Given the description of an element on the screen output the (x, y) to click on. 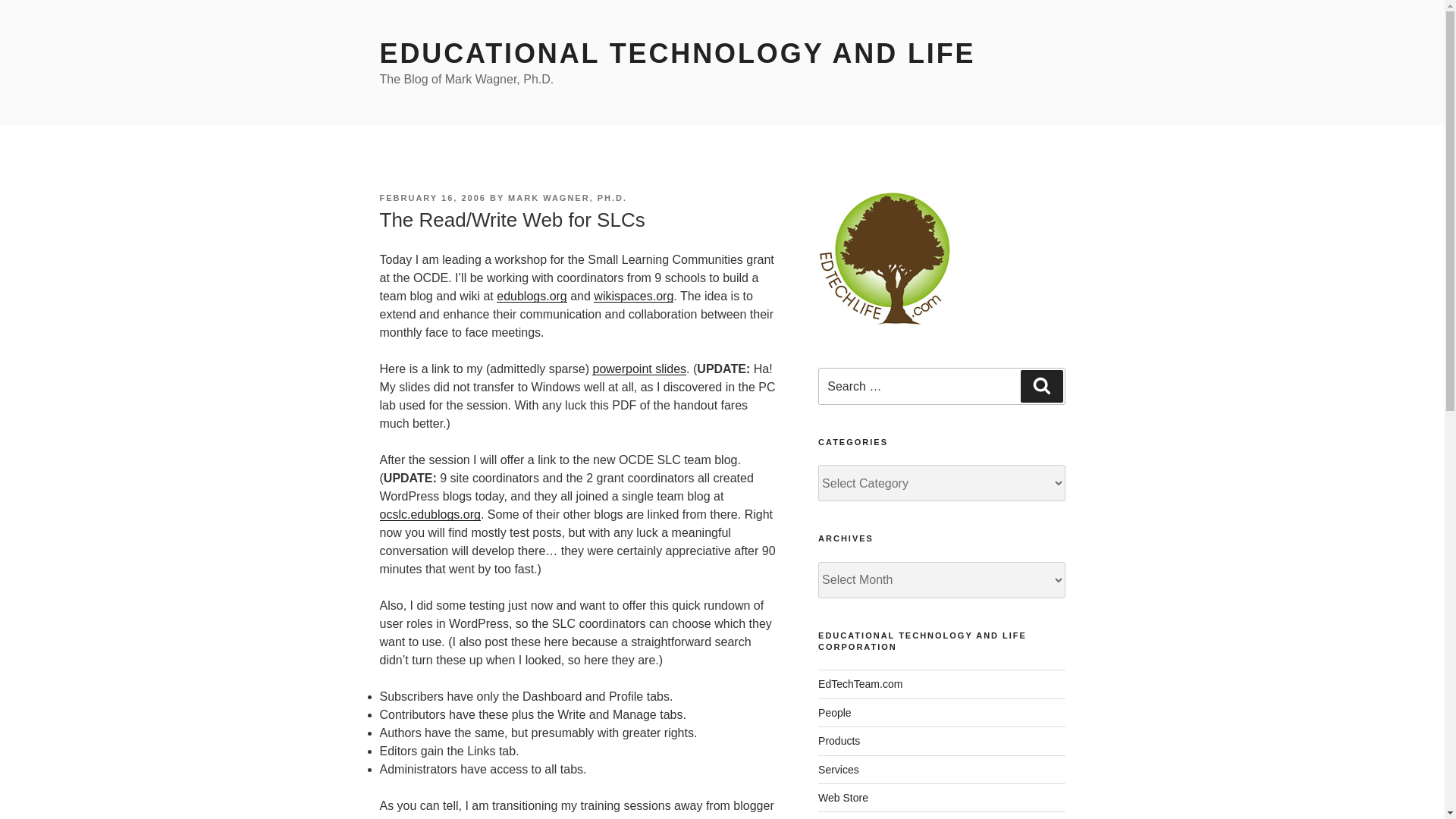
ocslc.edublogs.org (429, 513)
Web Store (842, 797)
EdTechTeam.com (860, 684)
edublogs.org (531, 295)
powerpoint slides (638, 368)
People (834, 712)
Services (838, 768)
wikispaces.org (633, 295)
MARK WAGNER, PH.D. (567, 197)
Products (839, 740)
